Given the description of an element on the screen output the (x, y) to click on. 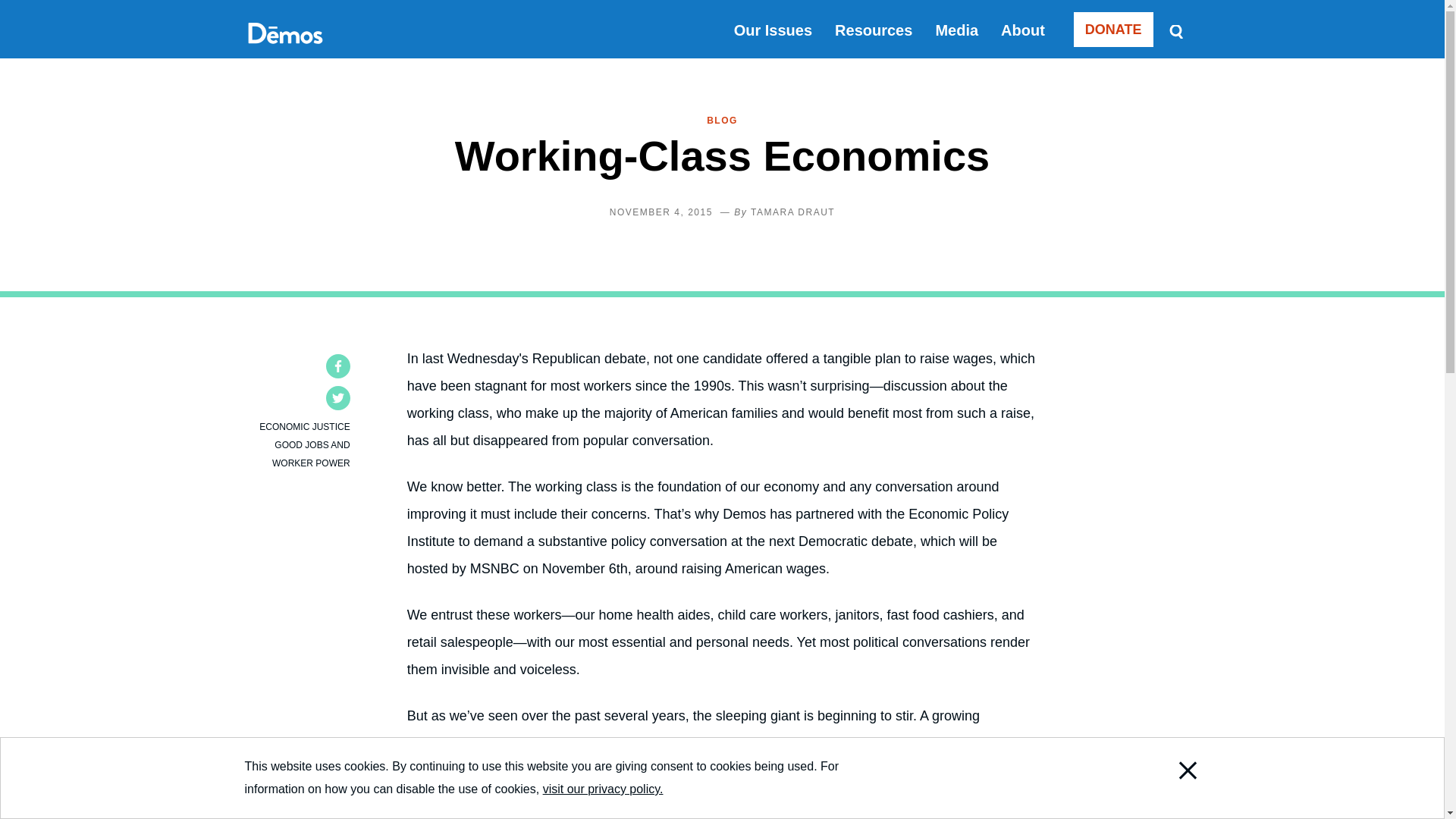
Twitter (338, 397)
Our Issues (772, 30)
Media (956, 30)
GOOD JOBS AND WORKER POWER (311, 453)
ECONOMIC JUSTICE (304, 426)
Home (284, 50)
Close Notification (1168, 796)
Resources (873, 30)
Facebook (338, 365)
DONATE (1113, 29)
Search (1176, 30)
About (1023, 30)
Search (1176, 30)
